Given the description of an element on the screen output the (x, y) to click on. 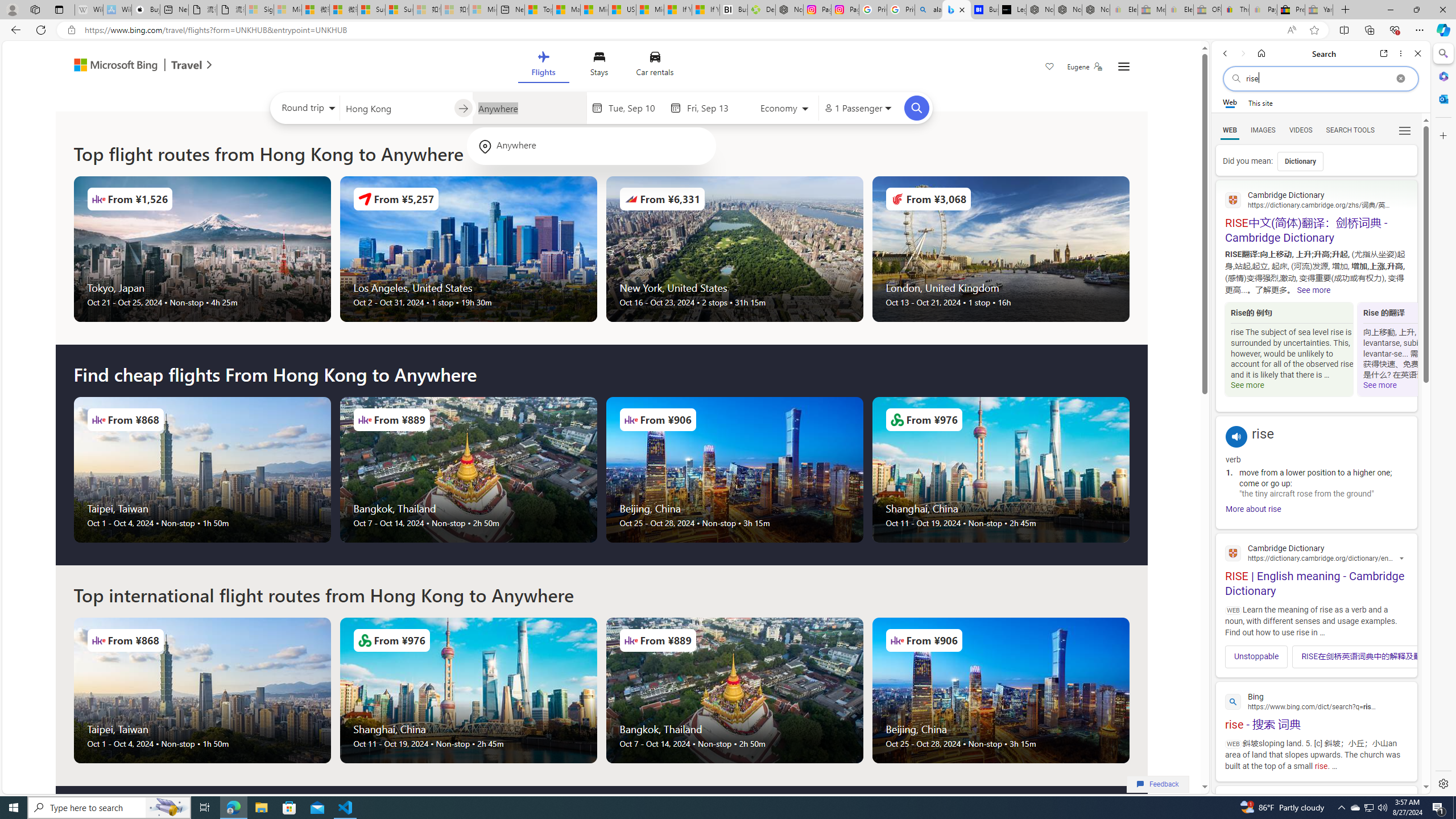
Start Date (636, 107)
to (462, 108)
Dictionary (1299, 161)
Save (1049, 67)
Class: autosuggest-container full-height no-y-padding (528, 107)
Yard, Garden & Outdoor Living - Sleeping (1319, 9)
Microsoft Services Agreement - Sleeping (288, 9)
